Given the description of an element on the screen output the (x, y) to click on. 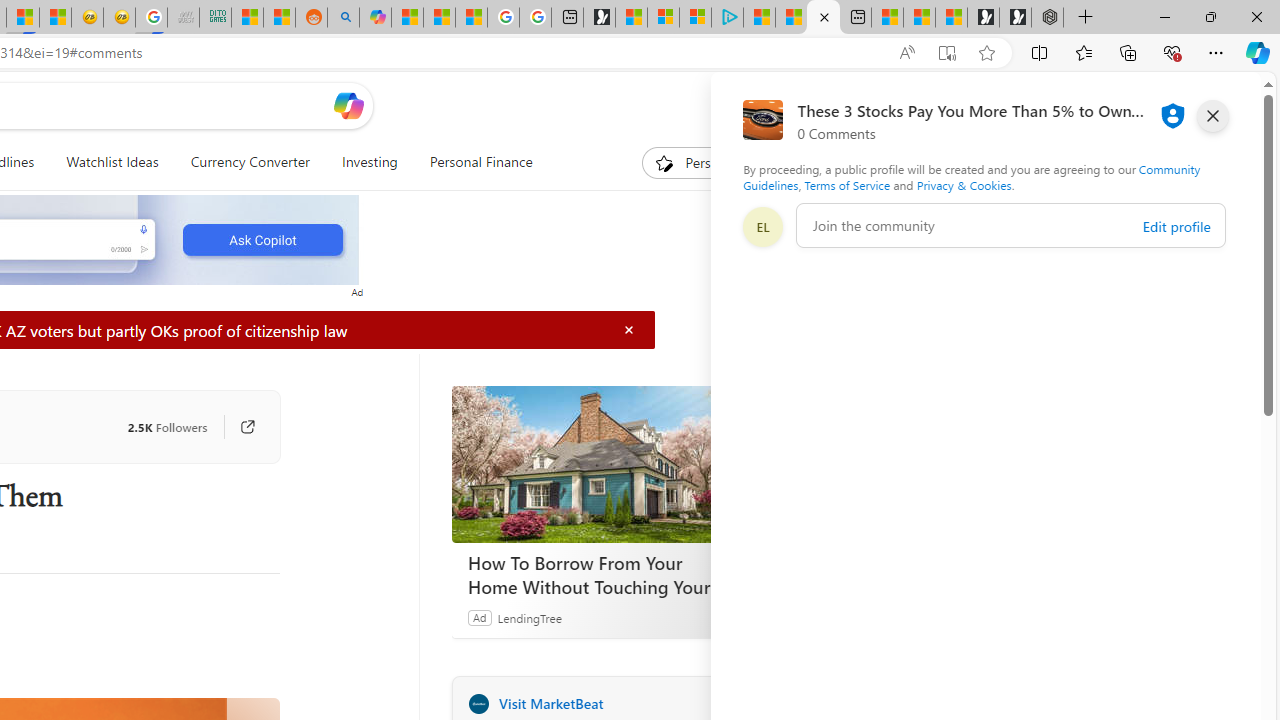
Microsoft Copilot in Bing (374, 17)
Watchlist Ideas (112, 162)
Watchlist Ideas (112, 162)
Terms of Service (846, 184)
